Given the description of an element on the screen output the (x, y) to click on. 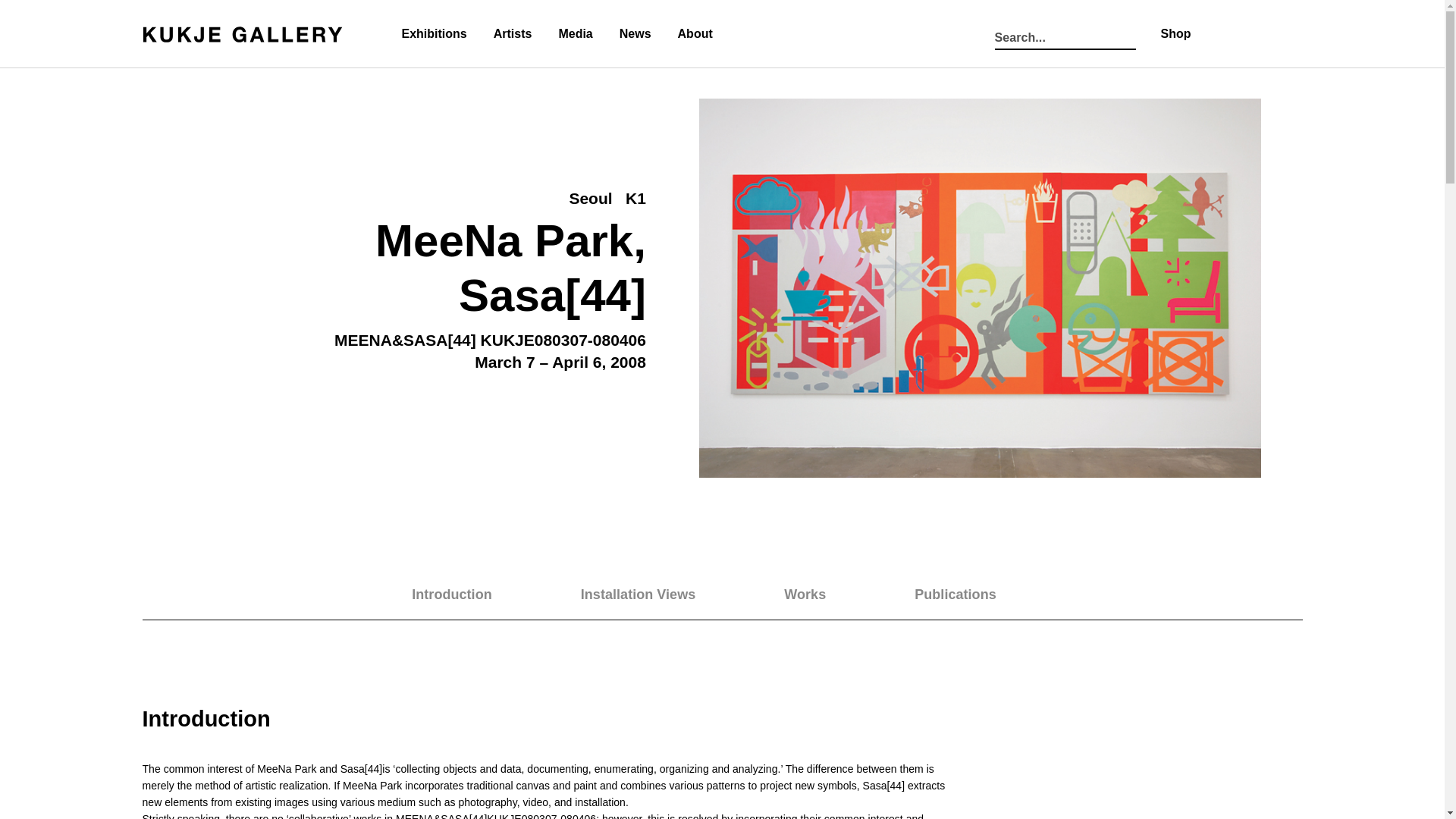
About (694, 35)
Publications (974, 594)
Works (822, 594)
Works (822, 596)
Shop (1176, 33)
MeeNa Park (504, 240)
Exhibitions (433, 35)
Publications (796, 27)
Introduction (974, 594)
